Given the description of an element on the screen output the (x, y) to click on. 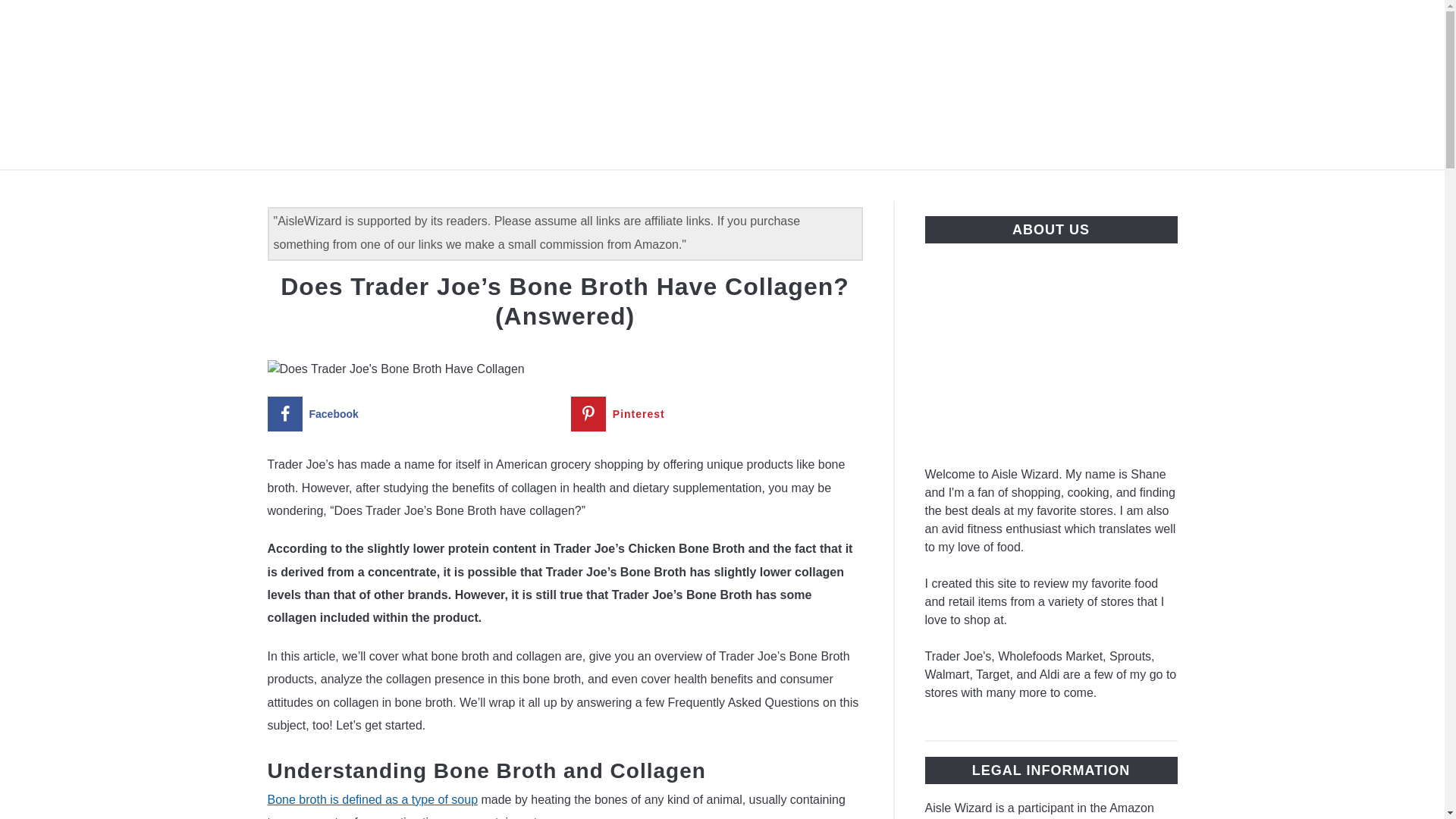
STORES (599, 187)
RESTAURANTS (710, 187)
Bone broth is defined as a type of soup (371, 799)
Pinterest (716, 413)
Share on Facebook (412, 413)
Facebook (412, 413)
Save to Pinterest (716, 413)
Search (1203, 84)
